Given the description of an element on the screen output the (x, y) to click on. 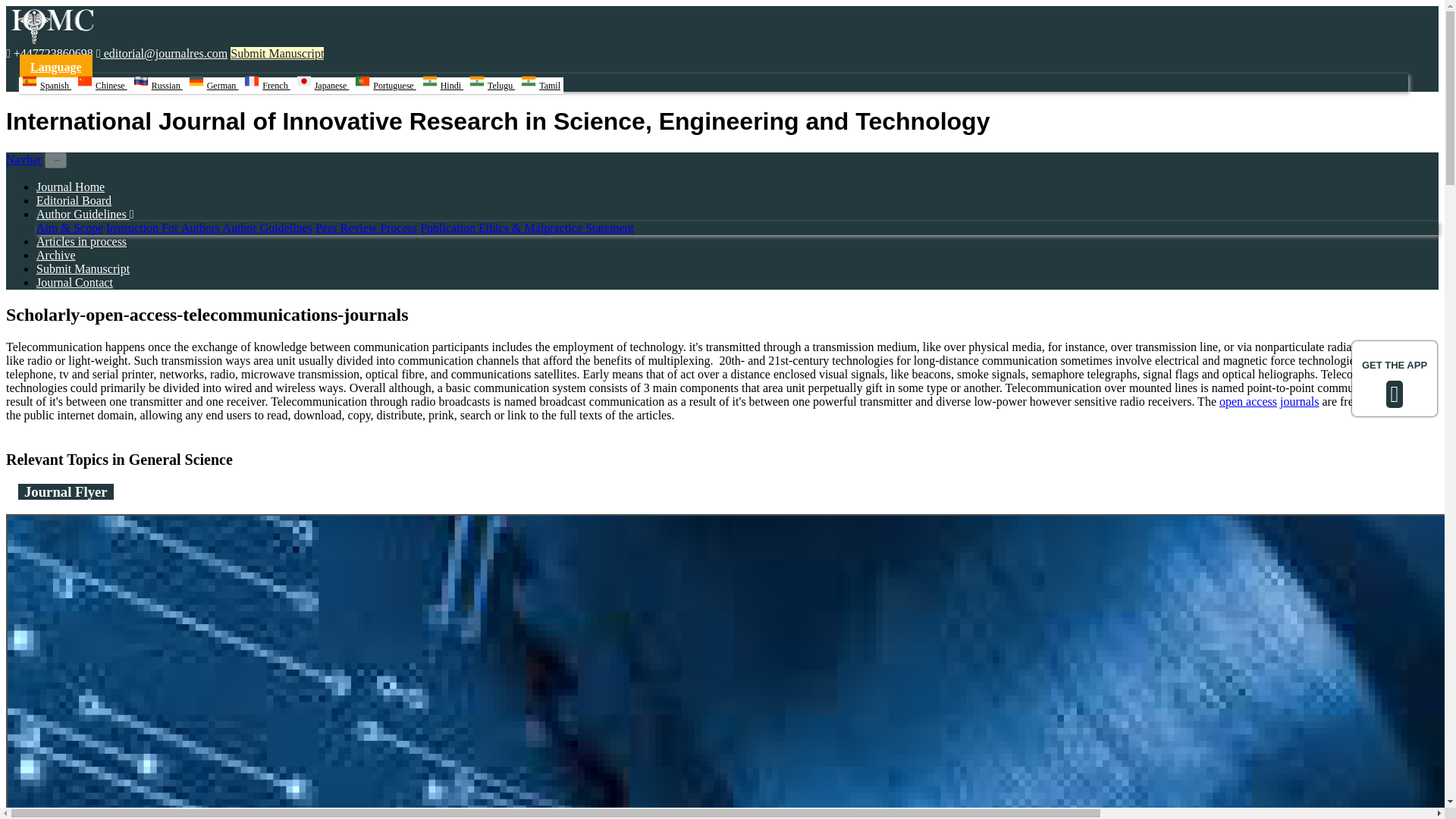
Submit Manuscript (276, 52)
French (266, 85)
Editorial Board (74, 200)
Archive (55, 254)
Spanish (46, 85)
Telugu (491, 85)
open access (1248, 400)
Submit Manuscript (82, 268)
Instruction For Authors (162, 227)
Telugu (491, 85)
German (213, 85)
Russian (158, 85)
Journal Home (70, 186)
Hindi (442, 85)
Peer Review Process (365, 227)
